Given the description of an element on the screen output the (x, y) to click on. 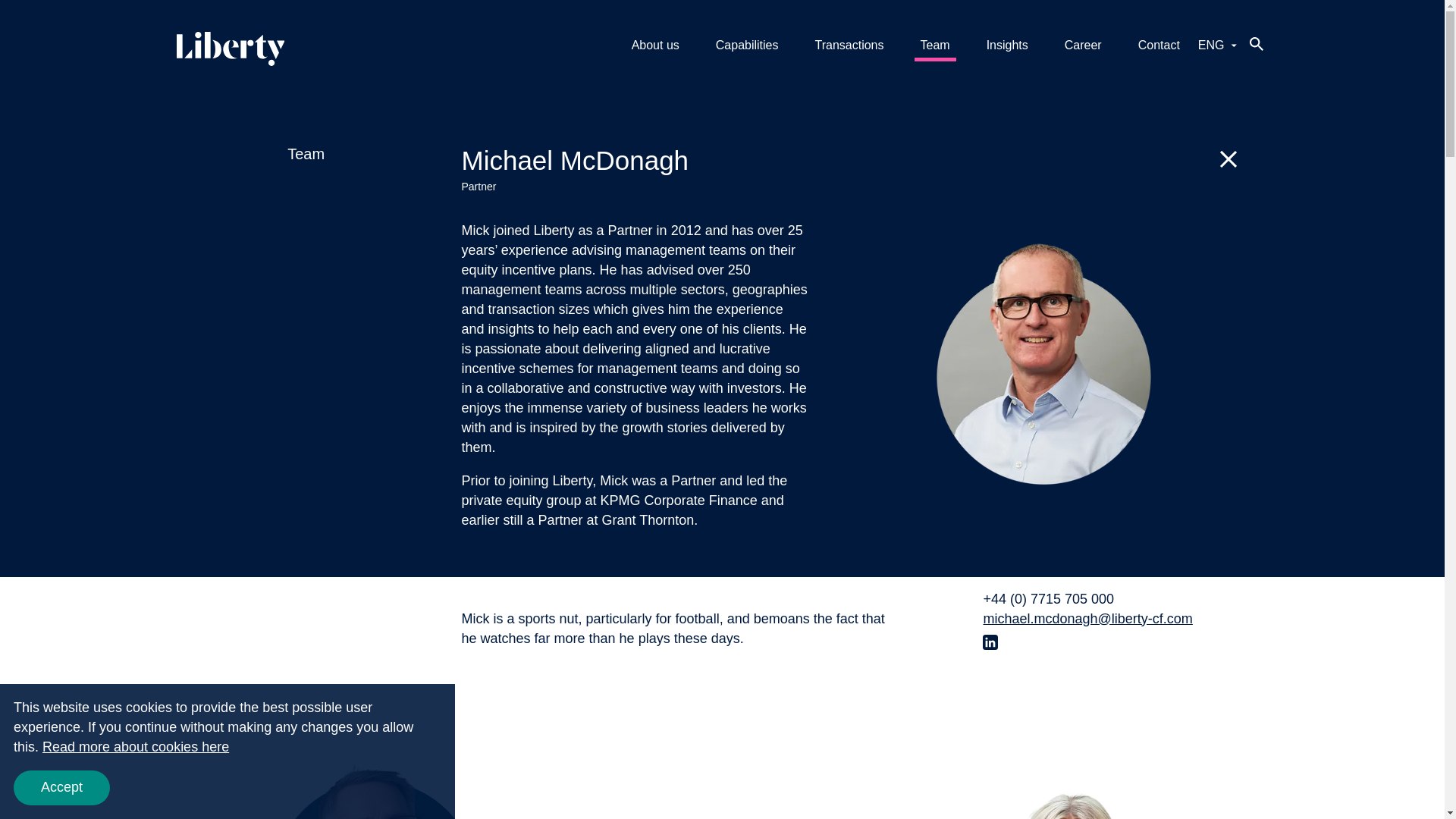
Contact (1158, 45)
Logotype (229, 48)
ENG (1217, 45)
Capabilities (746, 45)
Career (1082, 45)
Transactions (849, 45)
About us (374, 782)
Team (654, 45)
Logotype (305, 153)
Team (229, 51)
Insights (935, 45)
